Given the description of an element on the screen output the (x, y) to click on. 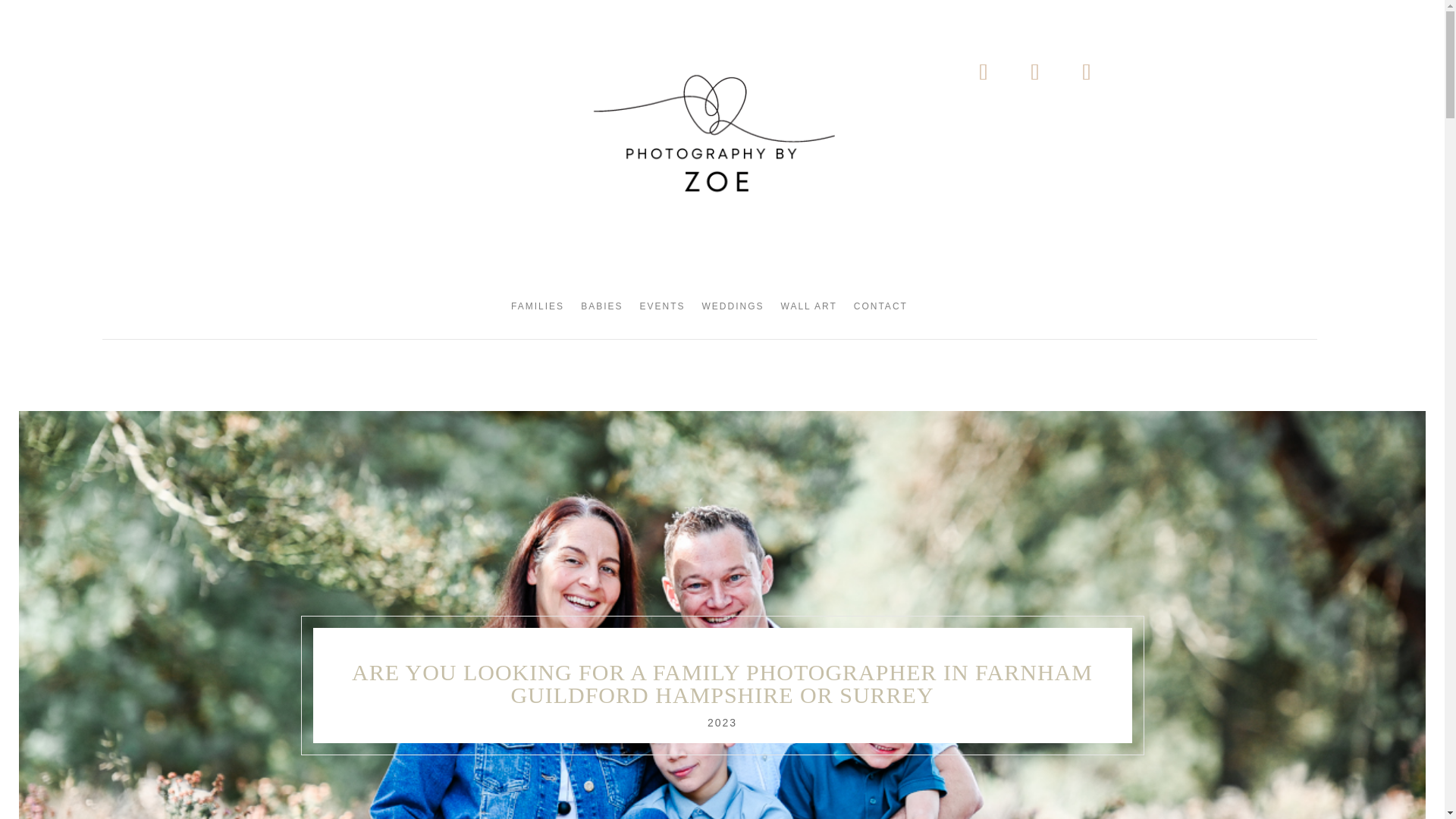
FAMILIES (537, 309)
EVENTS (662, 309)
WEDDINGS (732, 309)
2023 (721, 722)
BABIES (601, 309)
CONTACT (880, 309)
WALL ART (808, 309)
Follow on Instagram (1034, 72)
Follow on Facebook (983, 72)
